Given the description of an element on the screen output the (x, y) to click on. 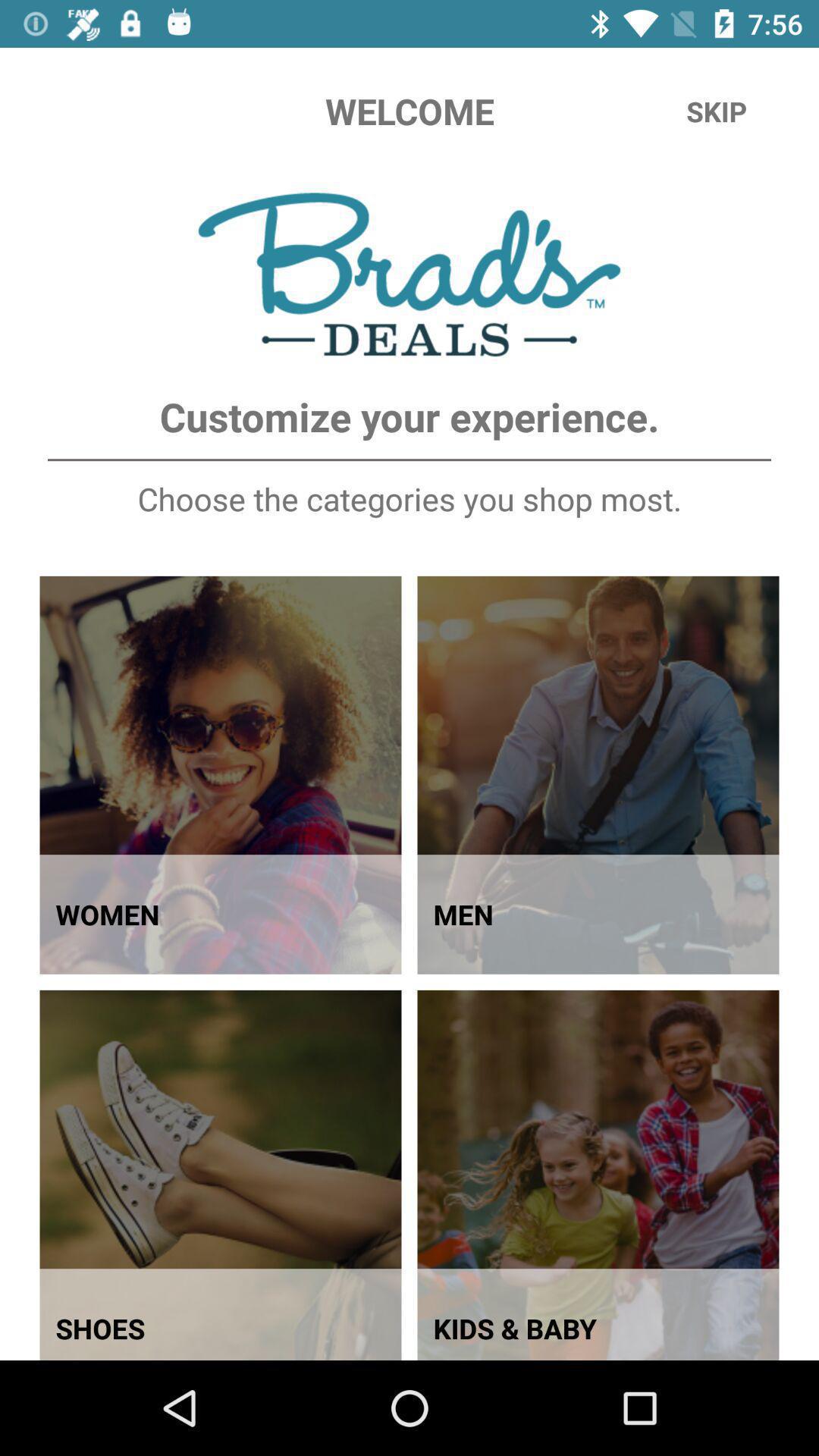
turn on the skip item (716, 111)
